Given the description of an element on the screen output the (x, y) to click on. 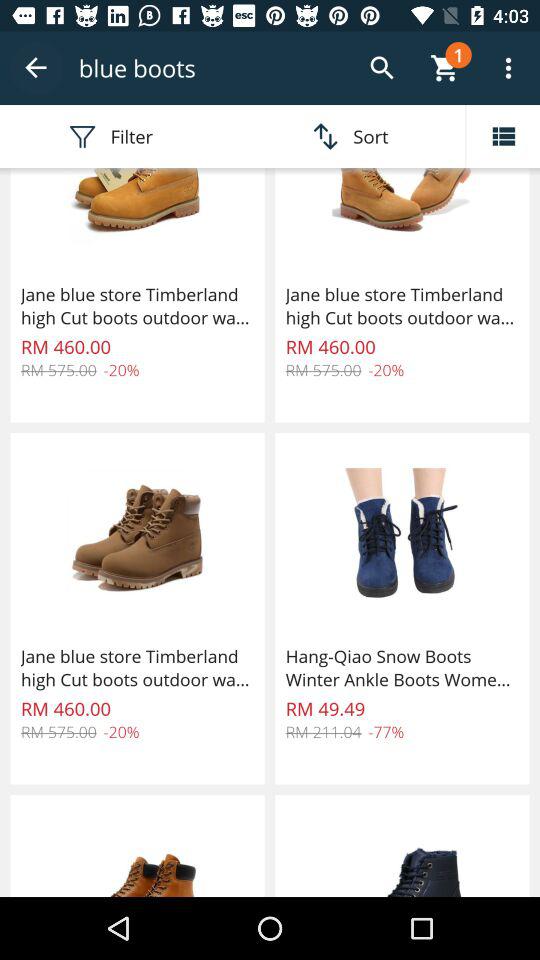
open menu (503, 136)
